Given the description of an element on the screen output the (x, y) to click on. 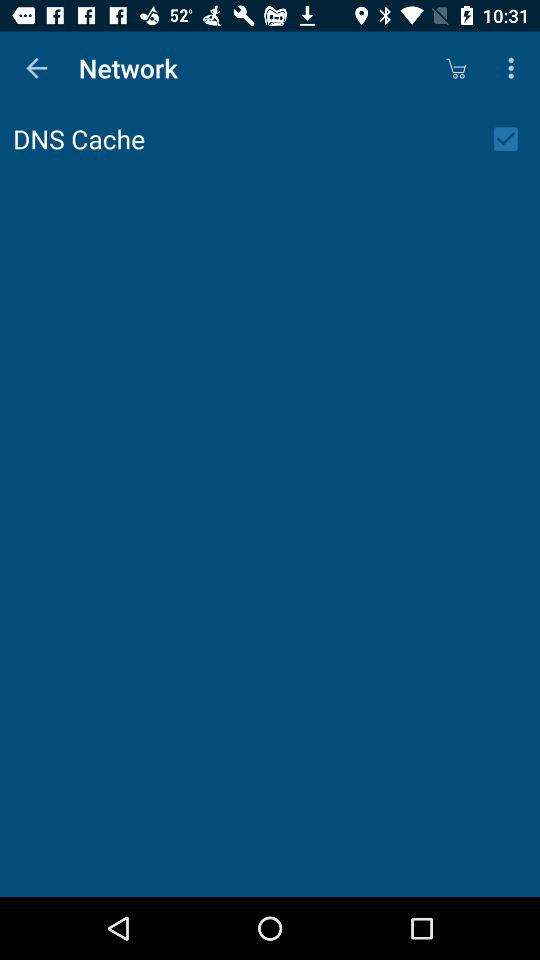
tap item above the dns cache (36, 68)
